Given the description of an element on the screen output the (x, y) to click on. 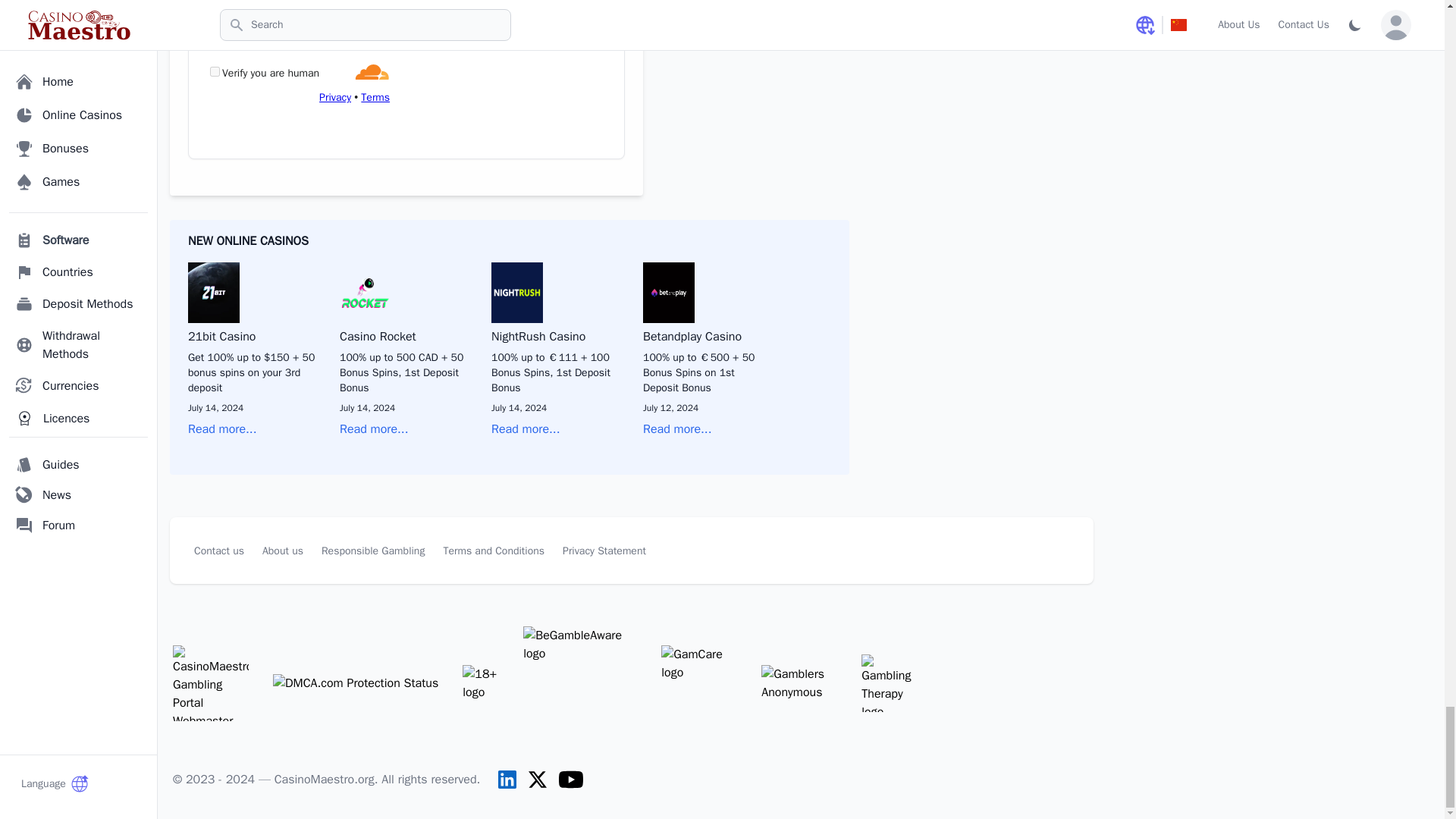
DMCA.com Protection Status (355, 683)
